Given the description of an element on the screen output the (x, y) to click on. 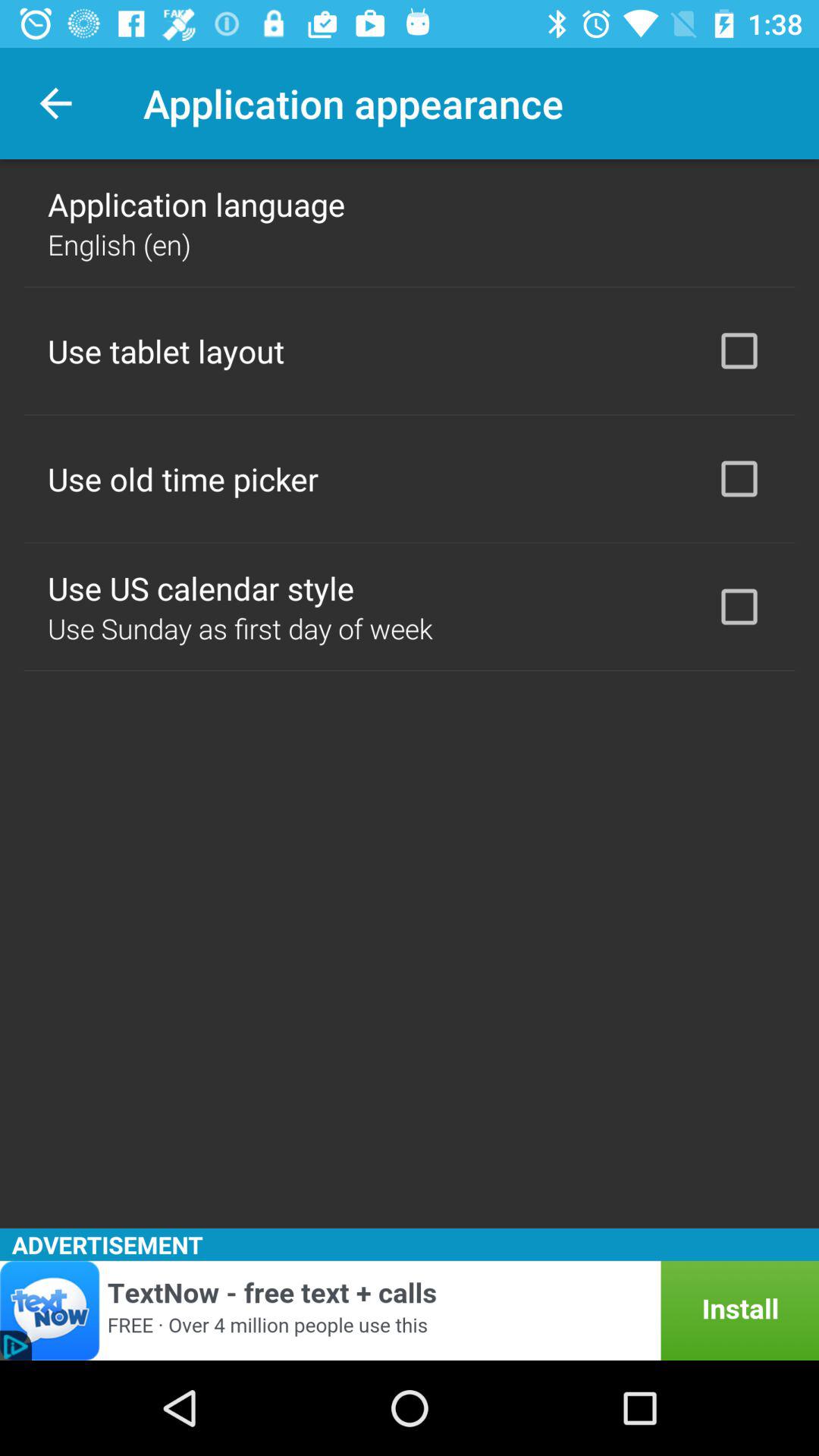
advertisement banner (409, 1310)
